Given the description of an element on the screen output the (x, y) to click on. 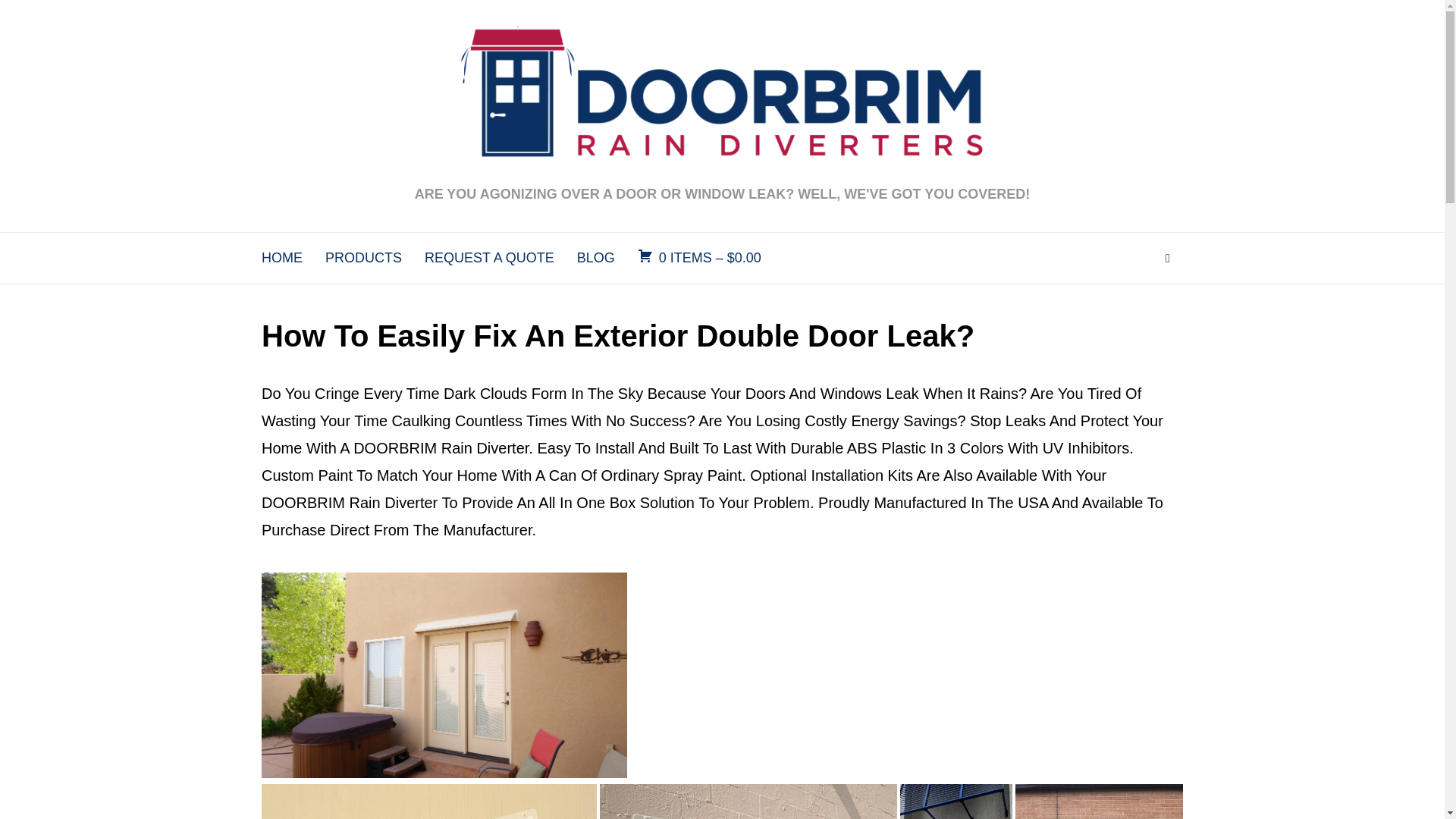
PRODUCTS (362, 258)
REQUEST A QUOTE (489, 258)
BLOG (595, 258)
HOME (282, 258)
View your shopping cart (699, 258)
Search (1167, 258)
